Given the description of an element on the screen output the (x, y) to click on. 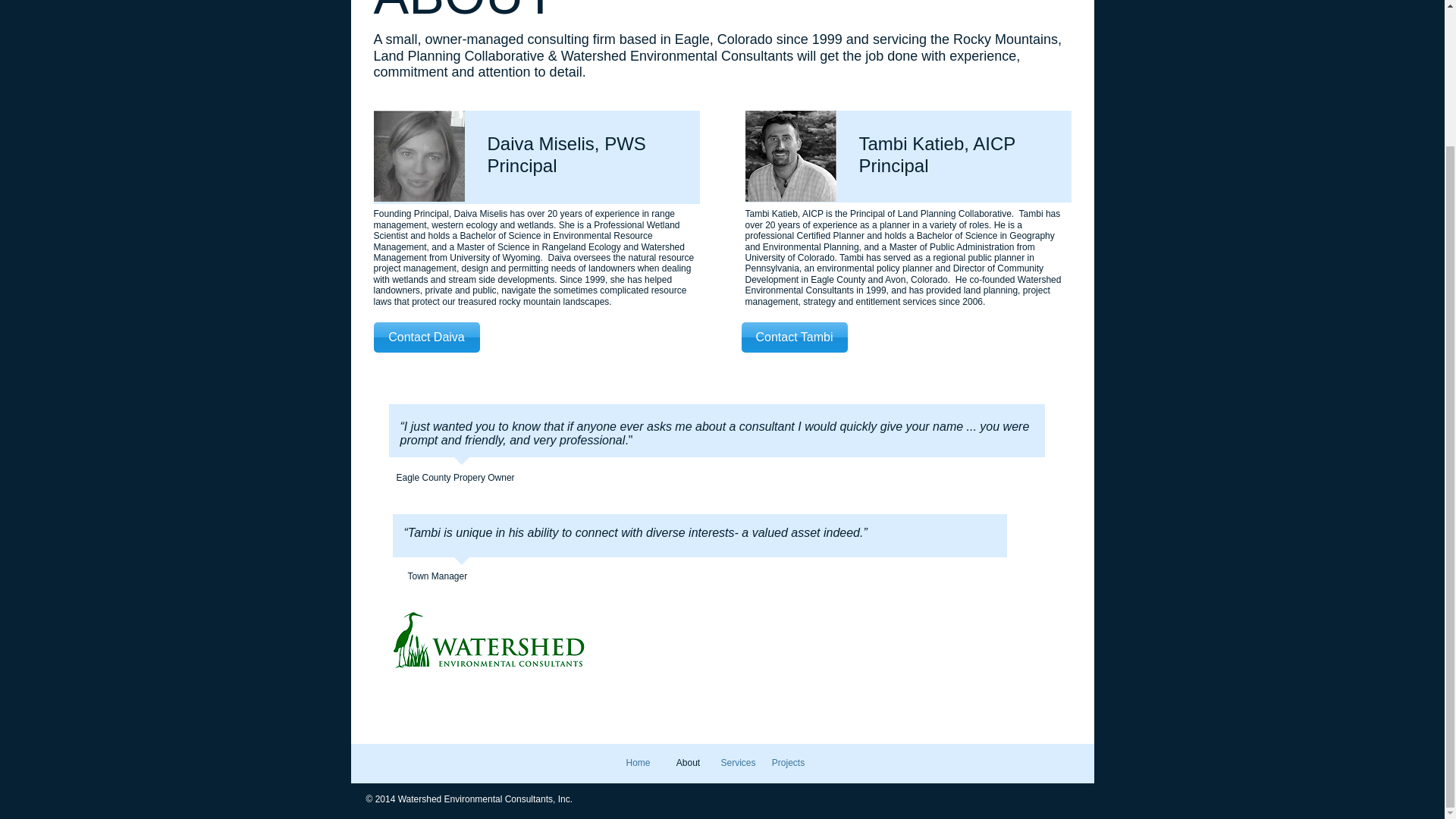
About (687, 762)
Services (737, 762)
Projects (787, 762)
Contact Daiva (425, 337)
Contact Tambi (794, 337)
Home (637, 762)
